Given the description of an element on the screen output the (x, y) to click on. 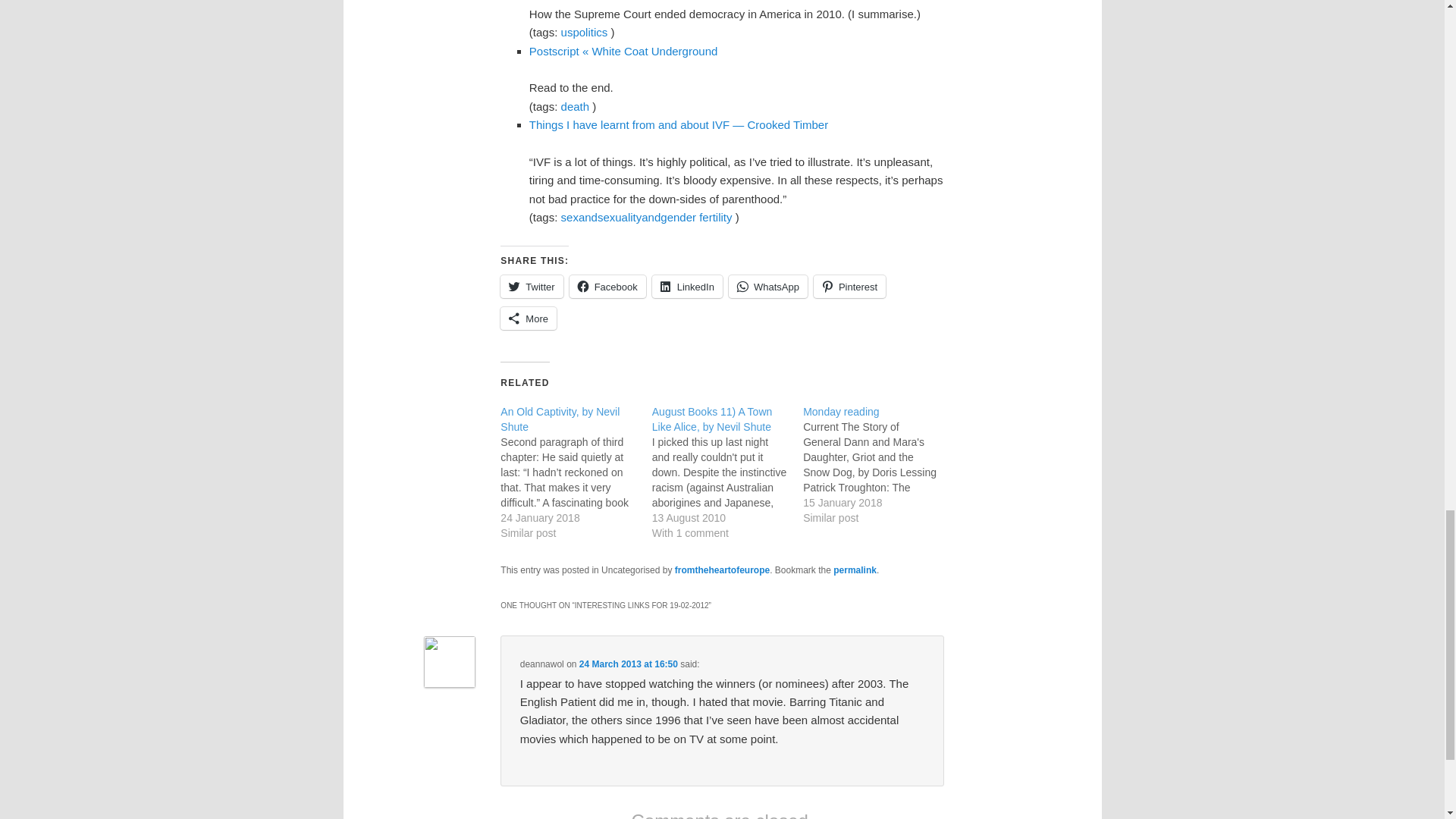
Click to share on LinkedIn (687, 286)
Click to share on Twitter (531, 286)
An Old Captivity, by Nevil Shute (575, 472)
Click to share on WhatsApp (768, 286)
An Old Captivity, by Nevil Shute (560, 419)
Click to share on Facebook (607, 286)
Click to share on Pinterest (849, 286)
